Given the description of an element on the screen output the (x, y) to click on. 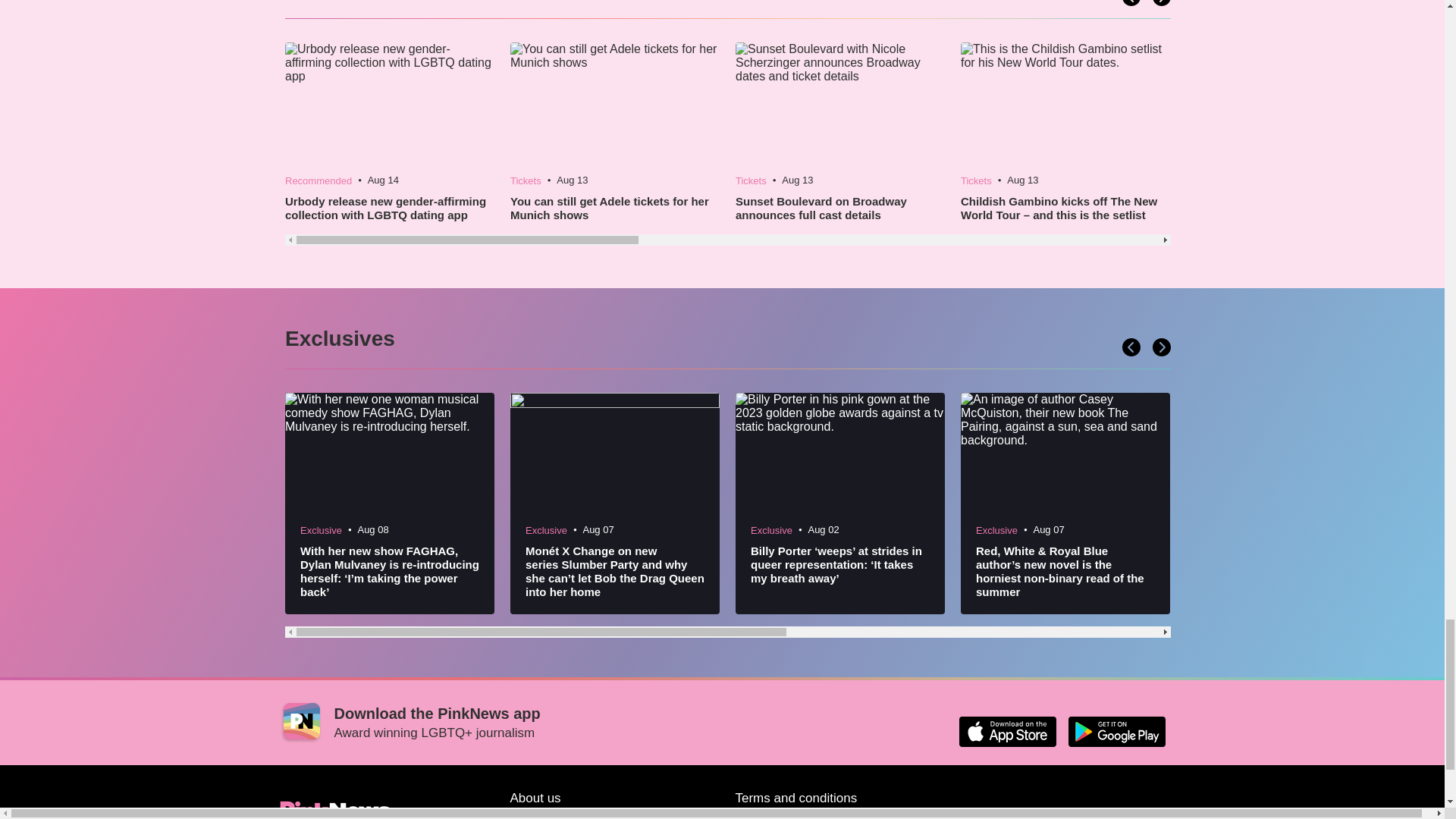
Follow PinkNews on Twitter (970, 813)
Subscribe to PinkNews on YouTube (1079, 813)
Follow PinkNews on TikTok (1042, 813)
Follow PinkNews on Instagram (1116, 813)
Follow PinkNews on Facebook (1007, 813)
Download the PinkNews app on the Apple App Store (1006, 731)
Download the PinkNews app on Google Play (1115, 731)
